Given the description of an element on the screen output the (x, y) to click on. 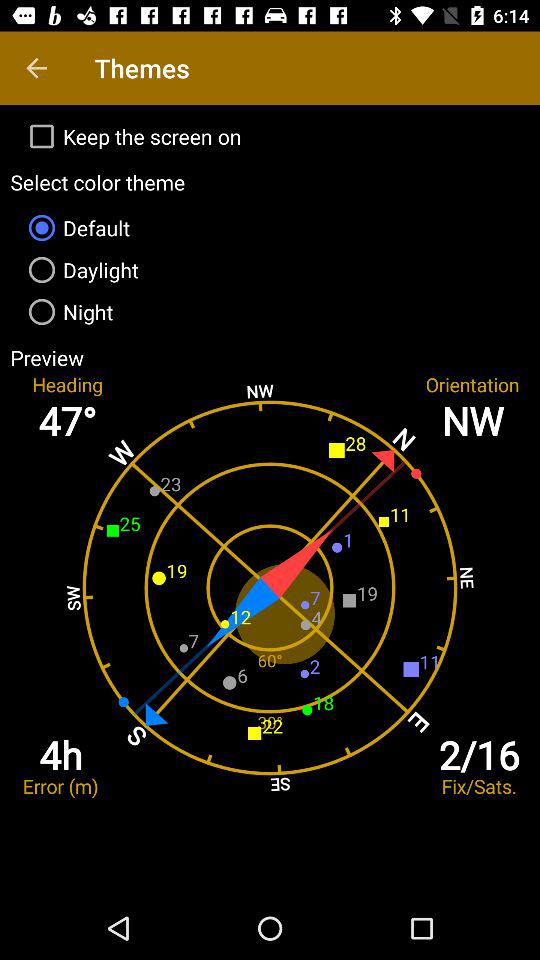
turn on the item above night (270, 269)
